Given the description of an element on the screen output the (x, y) to click on. 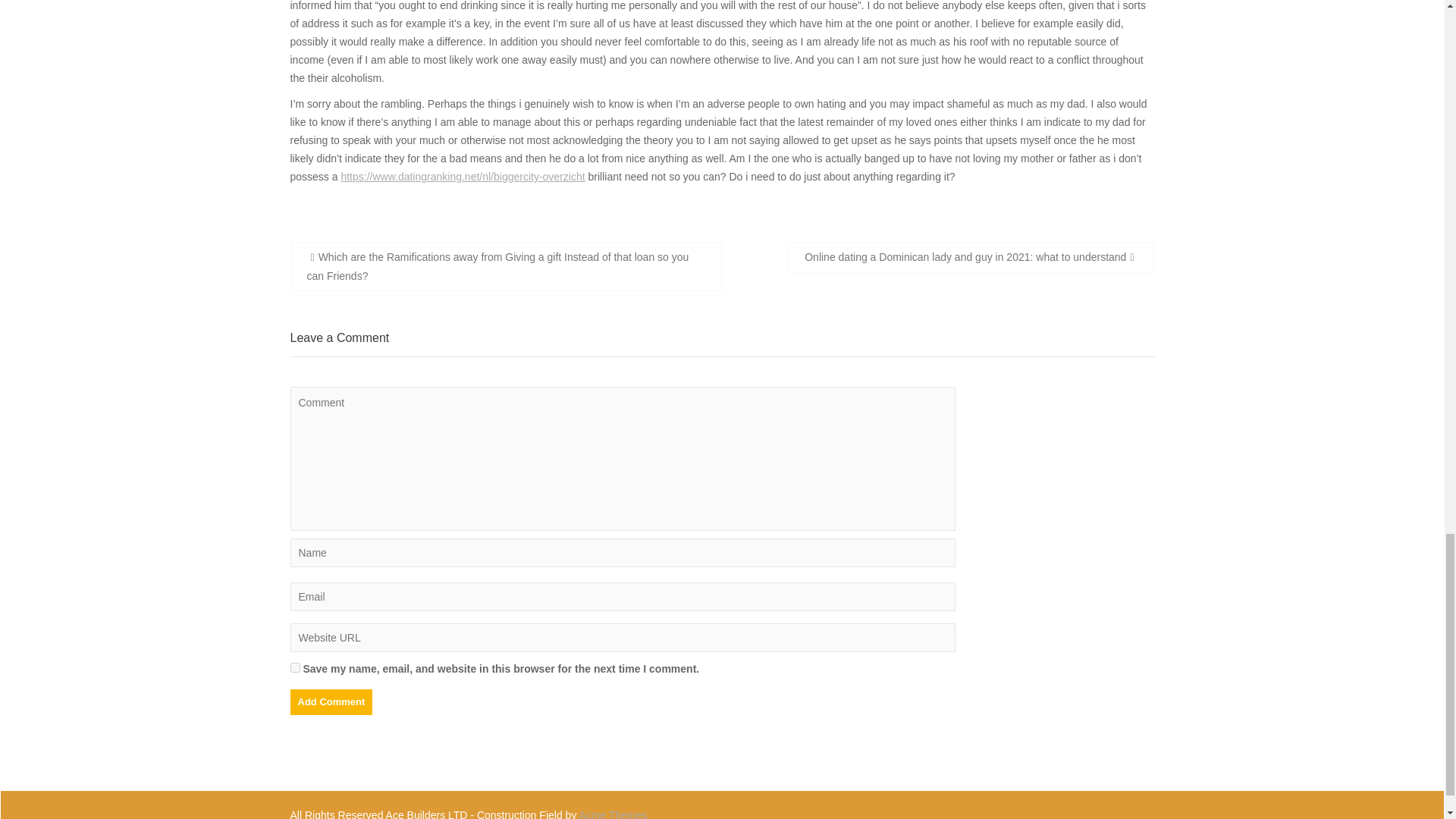
yes (294, 667)
Add Comment (330, 701)
Add Comment (330, 701)
Acme Themes (613, 814)
